Given the description of an element on the screen output the (x, y) to click on. 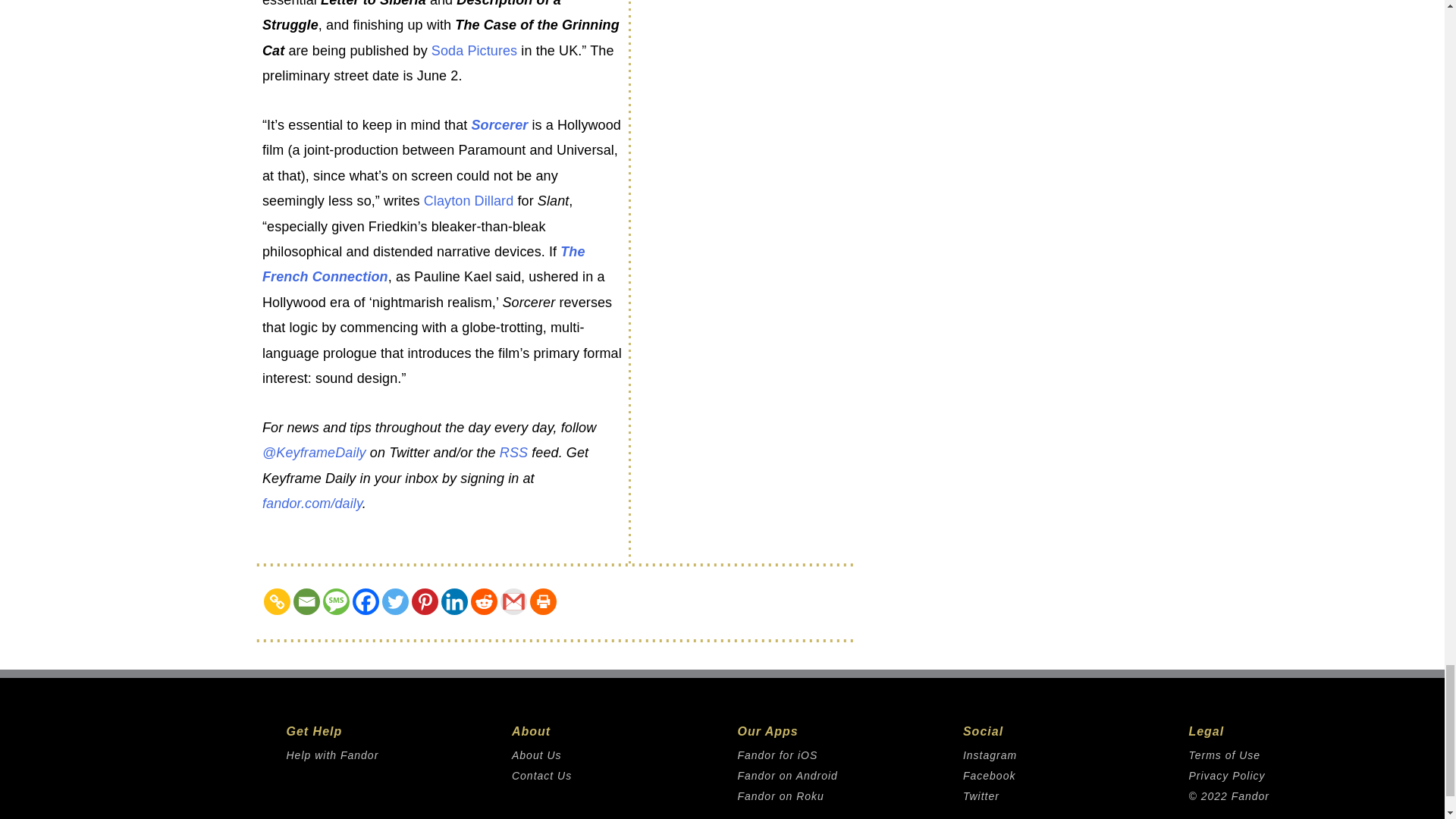
Facebook (365, 601)
Google Gmail (513, 601)
SMS (336, 601)
Linkedin (454, 601)
Pinterest (425, 601)
Reddit (483, 601)
Copy Link (276, 601)
Email (307, 601)
Print (542, 601)
Twitter (395, 601)
